Given the description of an element on the screen output the (x, y) to click on. 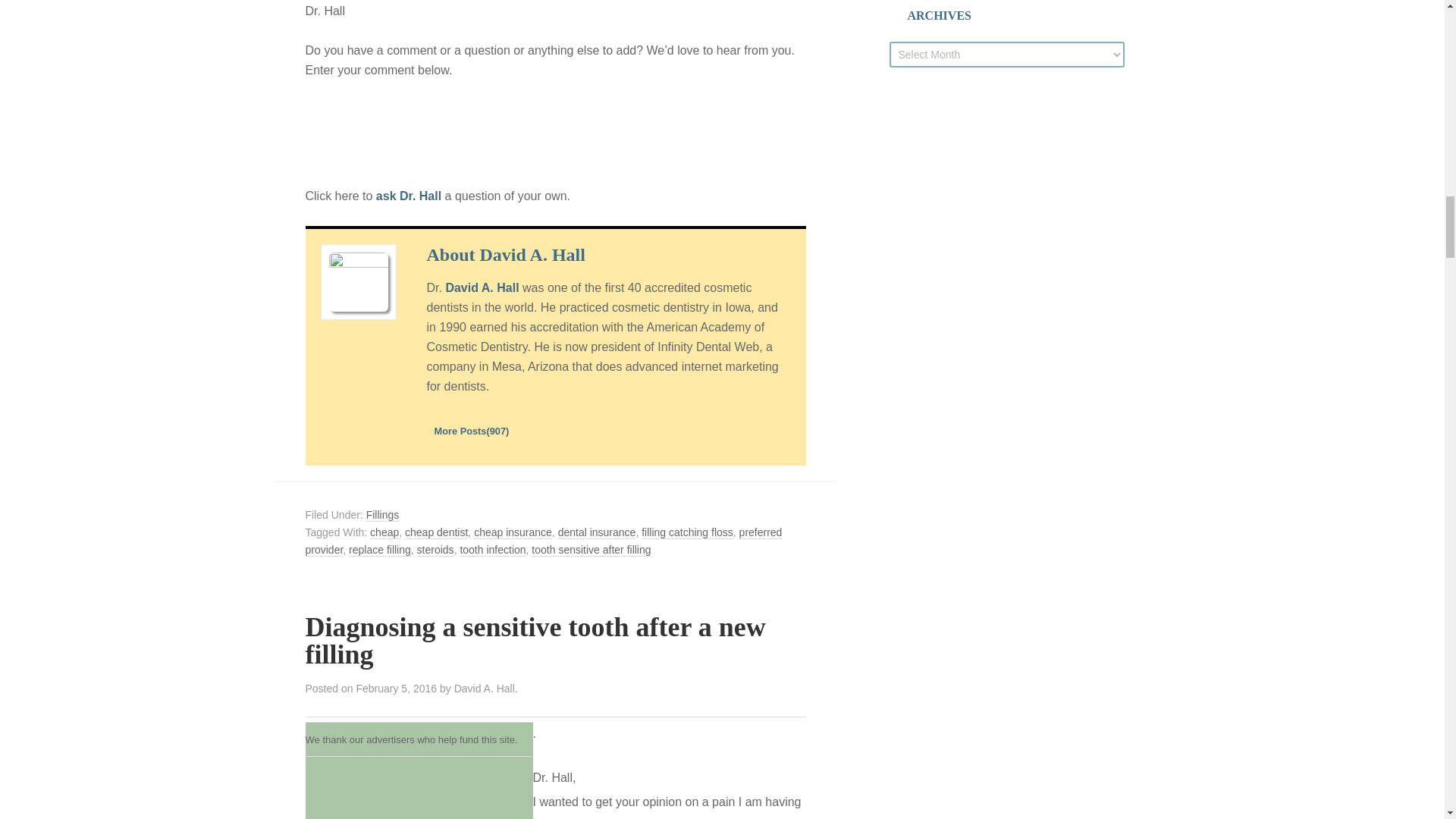
preferred provider (542, 541)
cheap (383, 532)
replace filling (379, 549)
cheap dentist (435, 532)
filling catching floss (687, 532)
More Posts By David A. Hall (470, 430)
Diagnosing a sensitive tooth after a new filling (534, 640)
dental insurance (596, 532)
cheap insurance (512, 532)
ask Dr. Hall (406, 195)
